Given the description of an element on the screen output the (x, y) to click on. 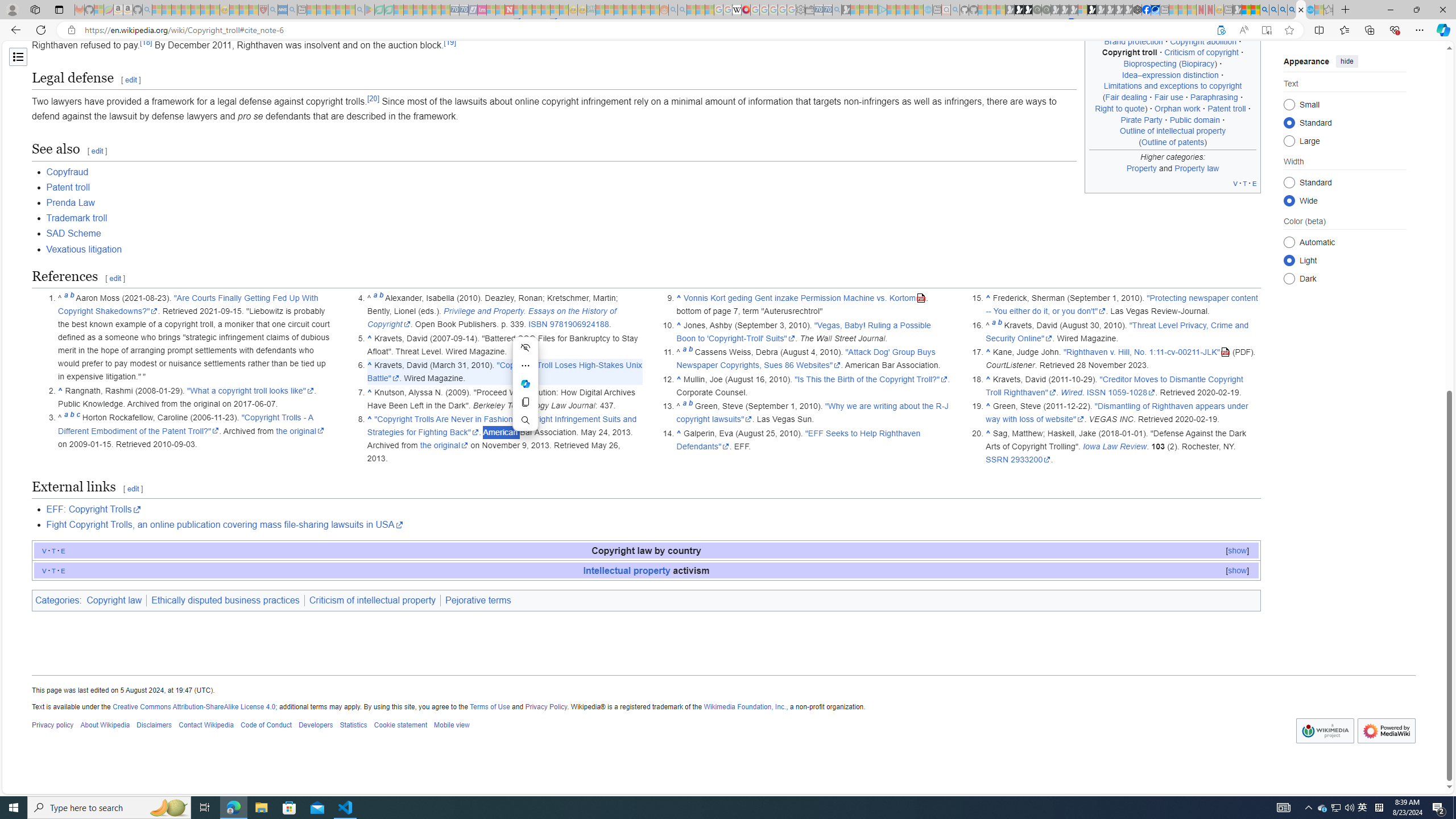
Nordace | Facebook (1146, 9)
[19] (449, 41)
MSNBC - MSN - Sleeping (600, 9)
(Outline of patents) (1172, 141)
Play Zoo Boom in your browser | Games from Microsoft Start (1018, 9)
Services - Maintenance | Sky Blue Bikes - Sky Blue Bikes (1309, 9)
1059-1028 (1132, 392)
